Given the description of an element on the screen output the (x, y) to click on. 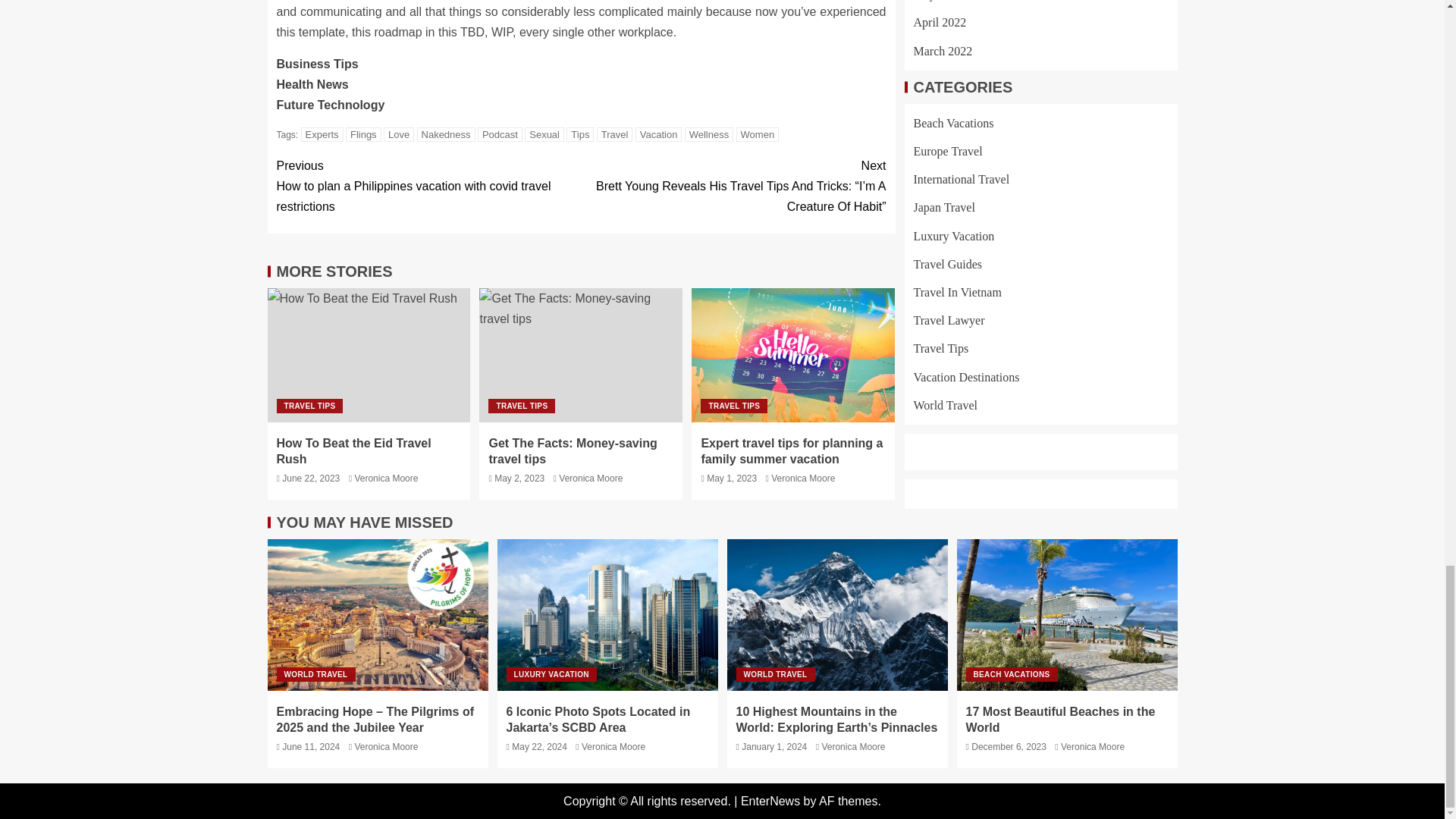
Sexual (544, 134)
Podcast (499, 134)
Vacation (658, 134)
Wellness (708, 134)
How To Beat the Eid Travel Rush (368, 355)
Experts (322, 134)
Love (398, 134)
Embracing Hope The Pilgrims of 2025 and the Jubilee Year (376, 614)
Get The Facts: Money-saving travel tips (580, 355)
Women (757, 134)
Future Technology (330, 104)
Travel (614, 134)
Tips (580, 134)
Expert travel tips for planning a family summer vacation (793, 355)
Business Tips (317, 63)
